Given the description of an element on the screen output the (x, y) to click on. 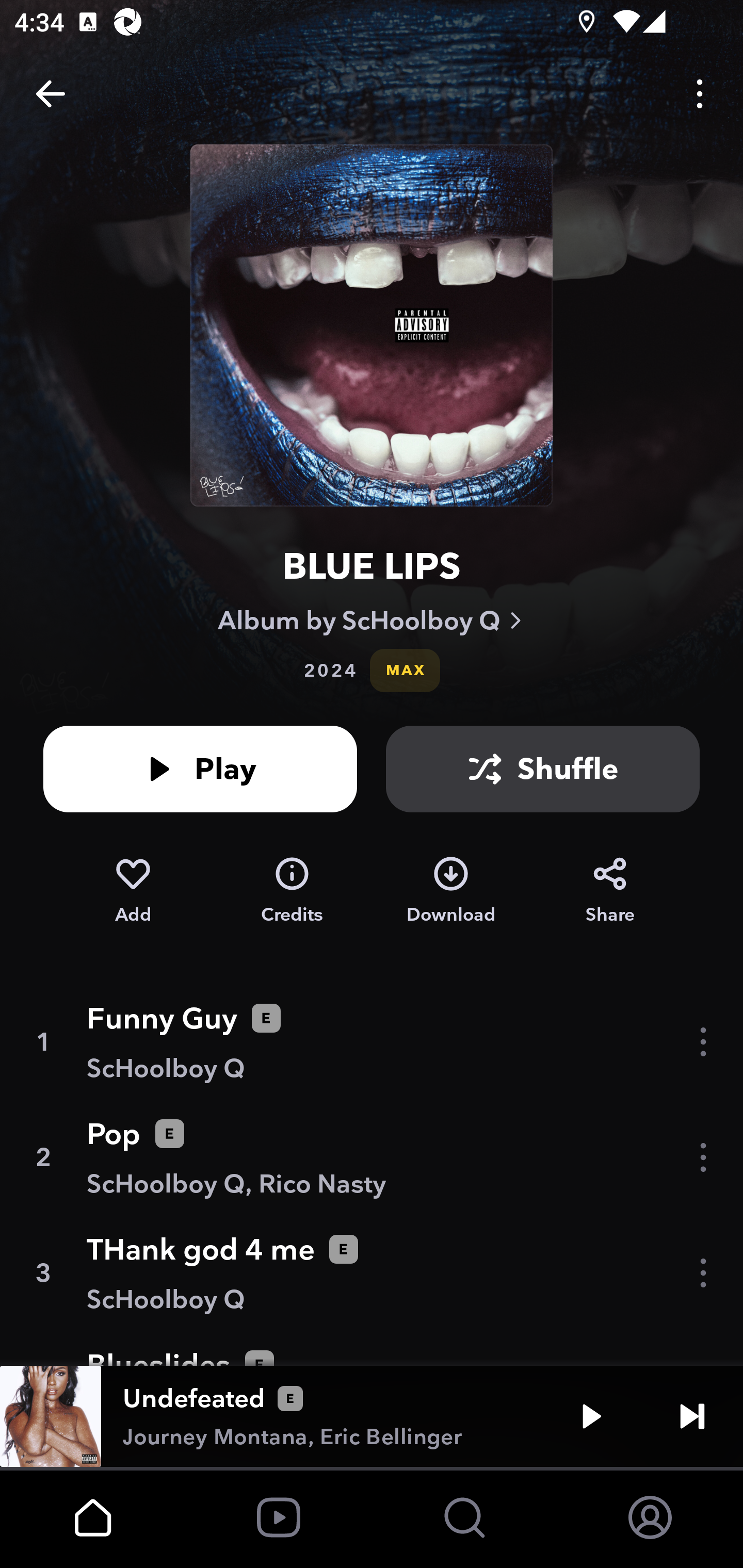
Options (699, 93)
BLUE LIPS (371, 565)
Album by ScHoolboy Q (371, 619)
Play (200, 768)
Shuffle (542, 768)
Add to My Collection Add (132, 890)
Credits (291, 890)
Download (450, 890)
Share (609, 890)
1 Funny Guy ScHoolboy Q (371, 1041)
2 Pop ScHoolboy Q, Rico Nasty (371, 1157)
3 THank god 4 me ScHoolboy Q (371, 1273)
Undefeated    Journey Montana, Eric Bellinger Play (371, 1416)
Play (590, 1416)
